Given the description of an element on the screen output the (x, y) to click on. 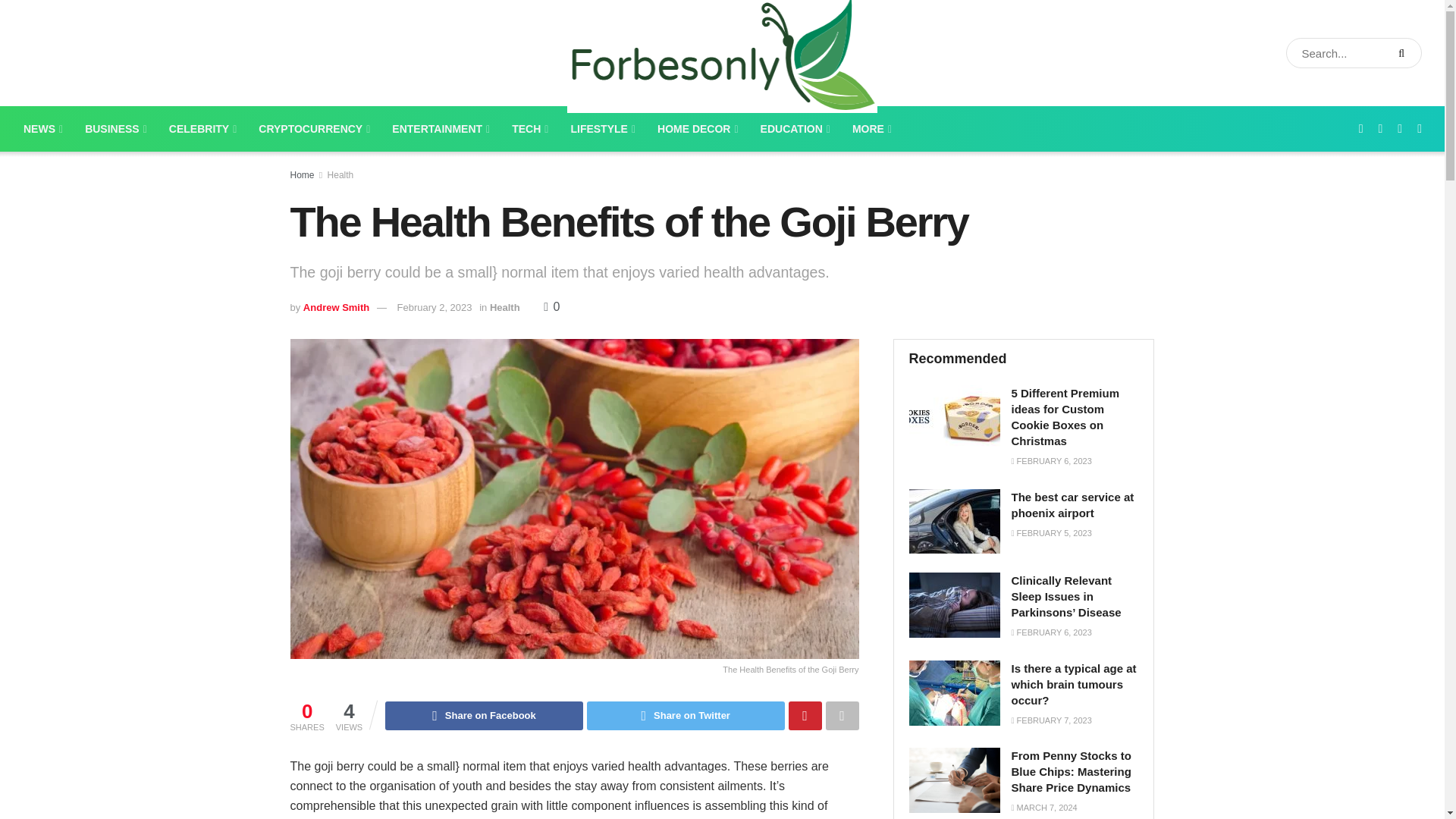
NEWS (41, 128)
BUSINESS (114, 128)
CELEBRITY (201, 128)
